Given the description of an element on the screen output the (x, y) to click on. 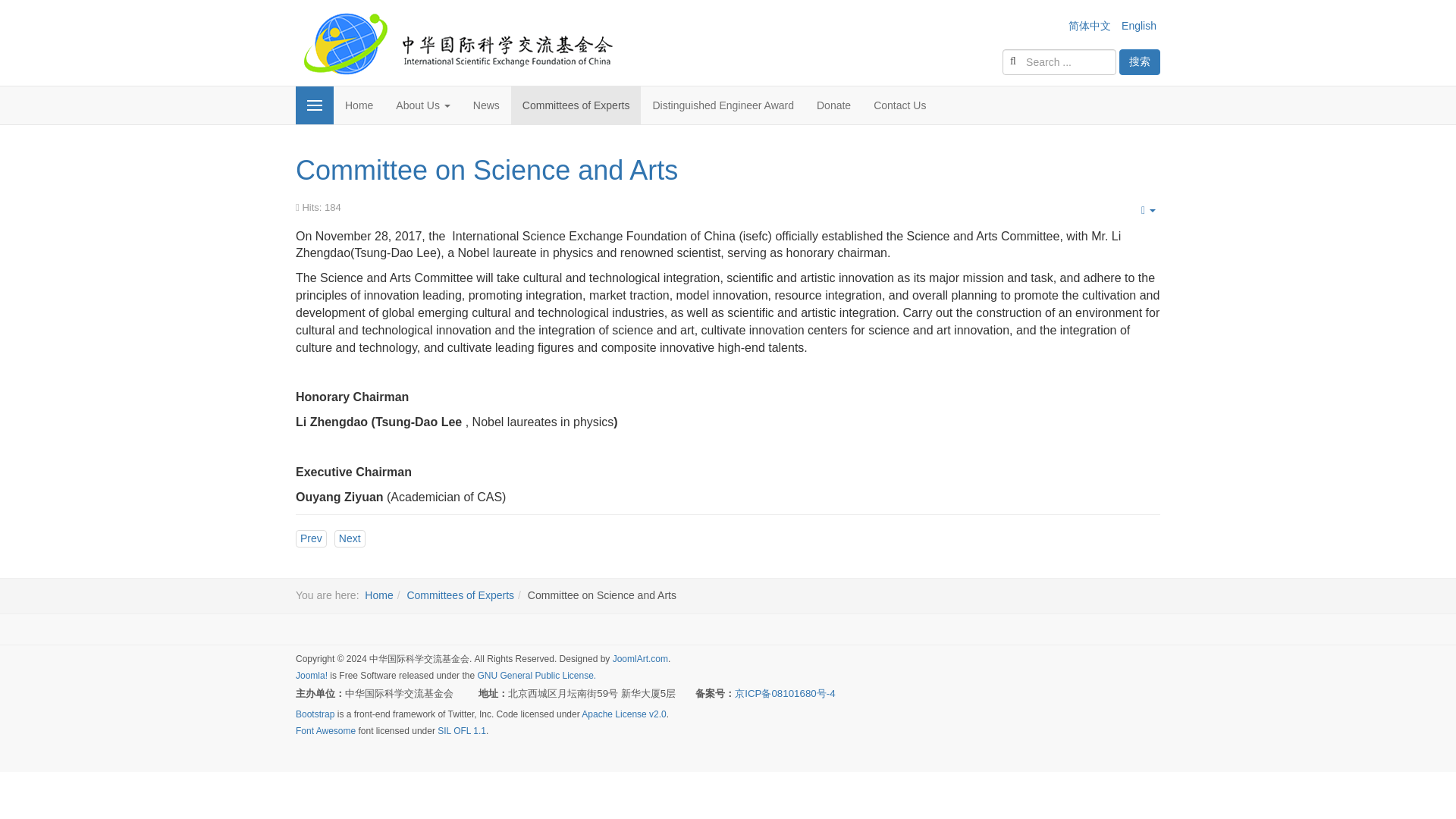
Home (358, 105)
Committees of Experts (576, 105)
Distinguished Engineer Award (722, 105)
Home (379, 594)
Joomla! (311, 675)
Contact Us (899, 105)
About Us (422, 105)
Donate (833, 105)
Next (349, 538)
News (486, 105)
Prev (310, 538)
Committee on Science and Arts (486, 169)
Committees of Experts (459, 594)
English (1138, 25)
Committee on Science and Arts (486, 169)
